Given the description of an element on the screen output the (x, y) to click on. 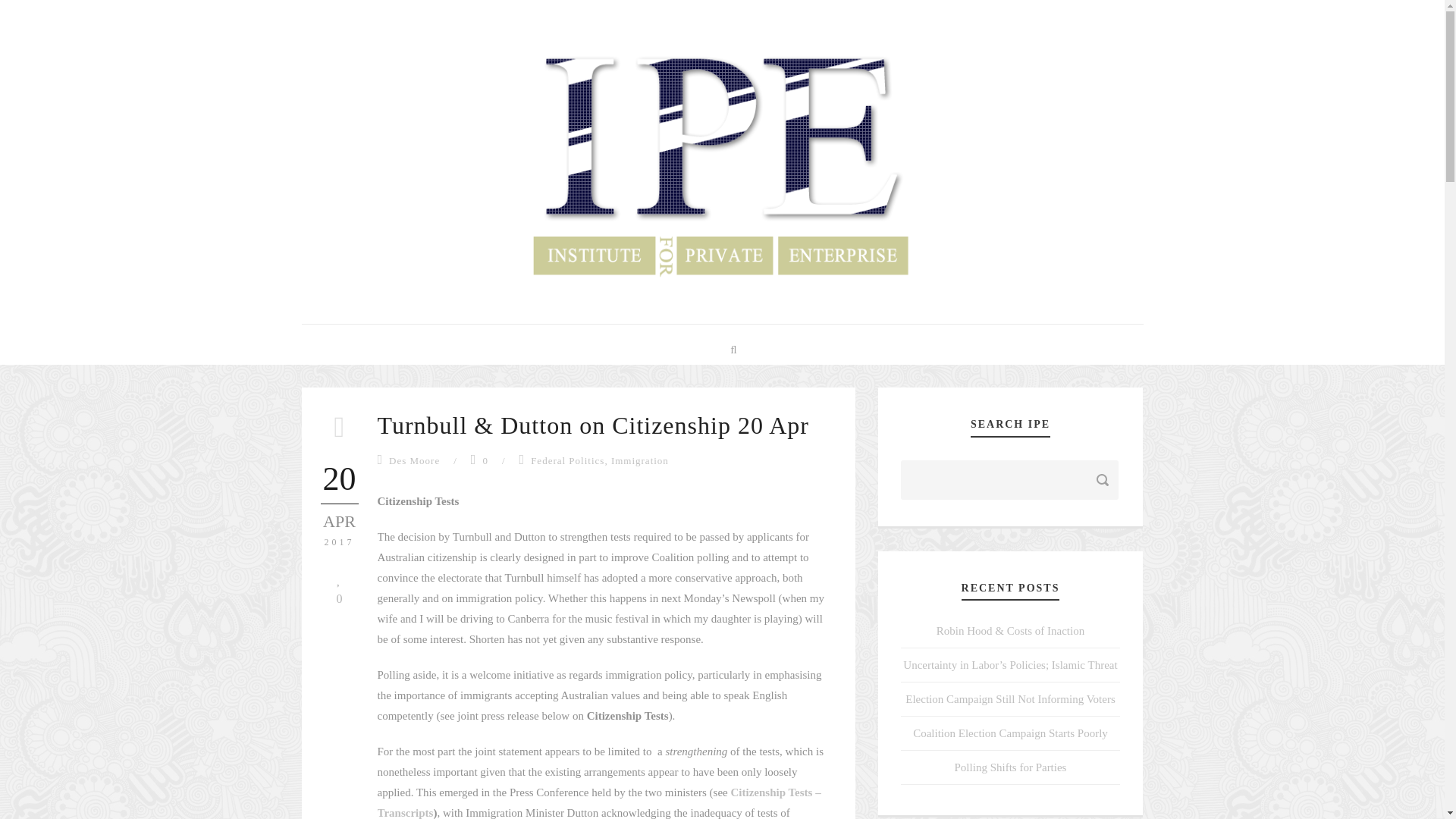
Polling Shifts for Parties (1011, 767)
Federal Politics (567, 460)
Posts by Des Moore (413, 460)
Des Moore (413, 460)
Election Campaign Still Not Informing Voters (1010, 698)
Coalition Election Campaign Starts Poorly (1010, 733)
Immigration (639, 460)
